Given the description of an element on the screen output the (x, y) to click on. 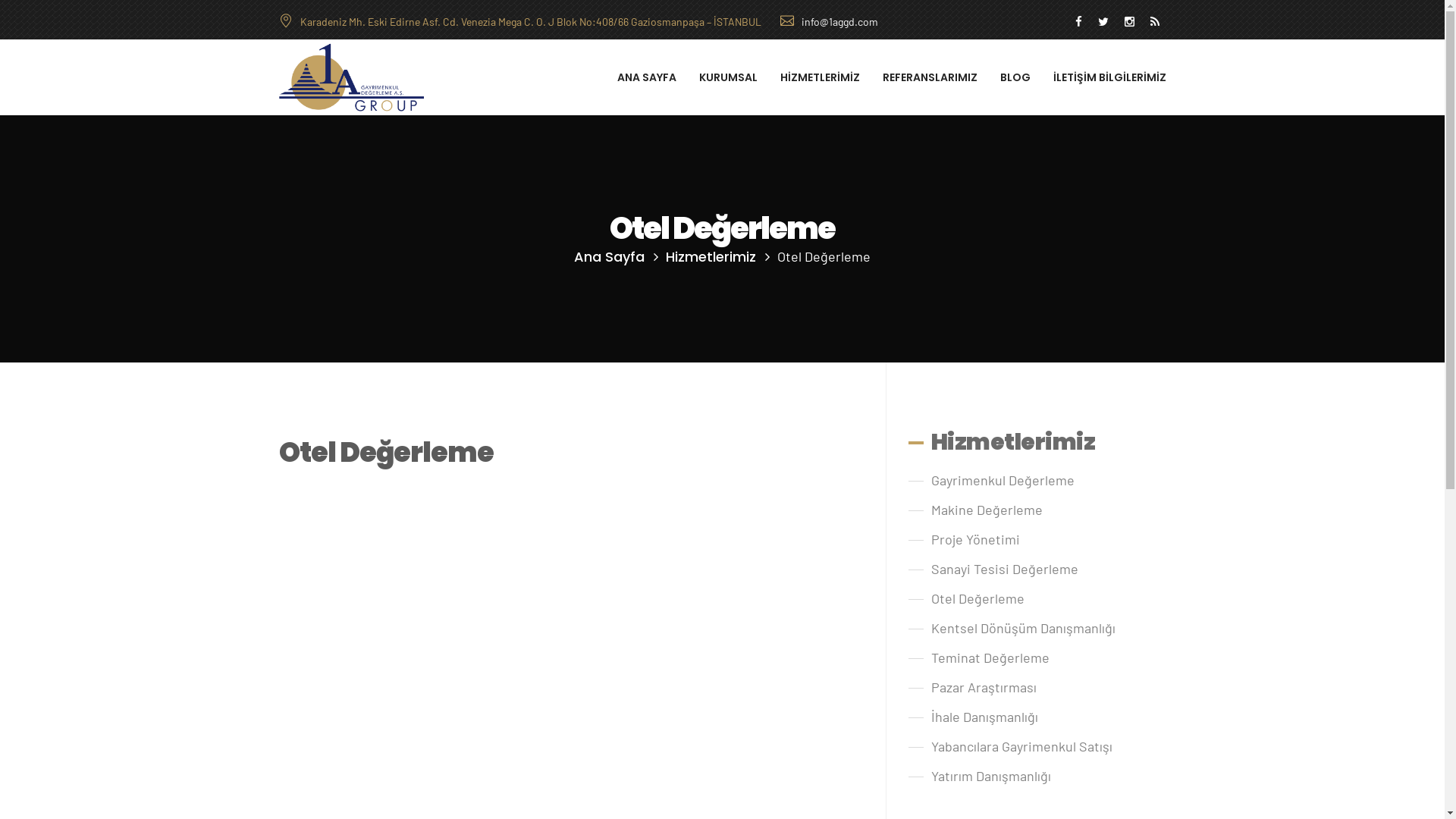
KURUMSAL Element type: text (728, 76)
REFERANSLARIMIZ Element type: text (929, 76)
info@1aggd.com Element type: text (828, 21)
ANA SAYFA Element type: text (646, 76)
Ana Sayfa Element type: text (609, 256)
Hizmetlerimiz Element type: text (710, 256)
BLOG Element type: text (1014, 76)
